Given the description of an element on the screen output the (x, y) to click on. 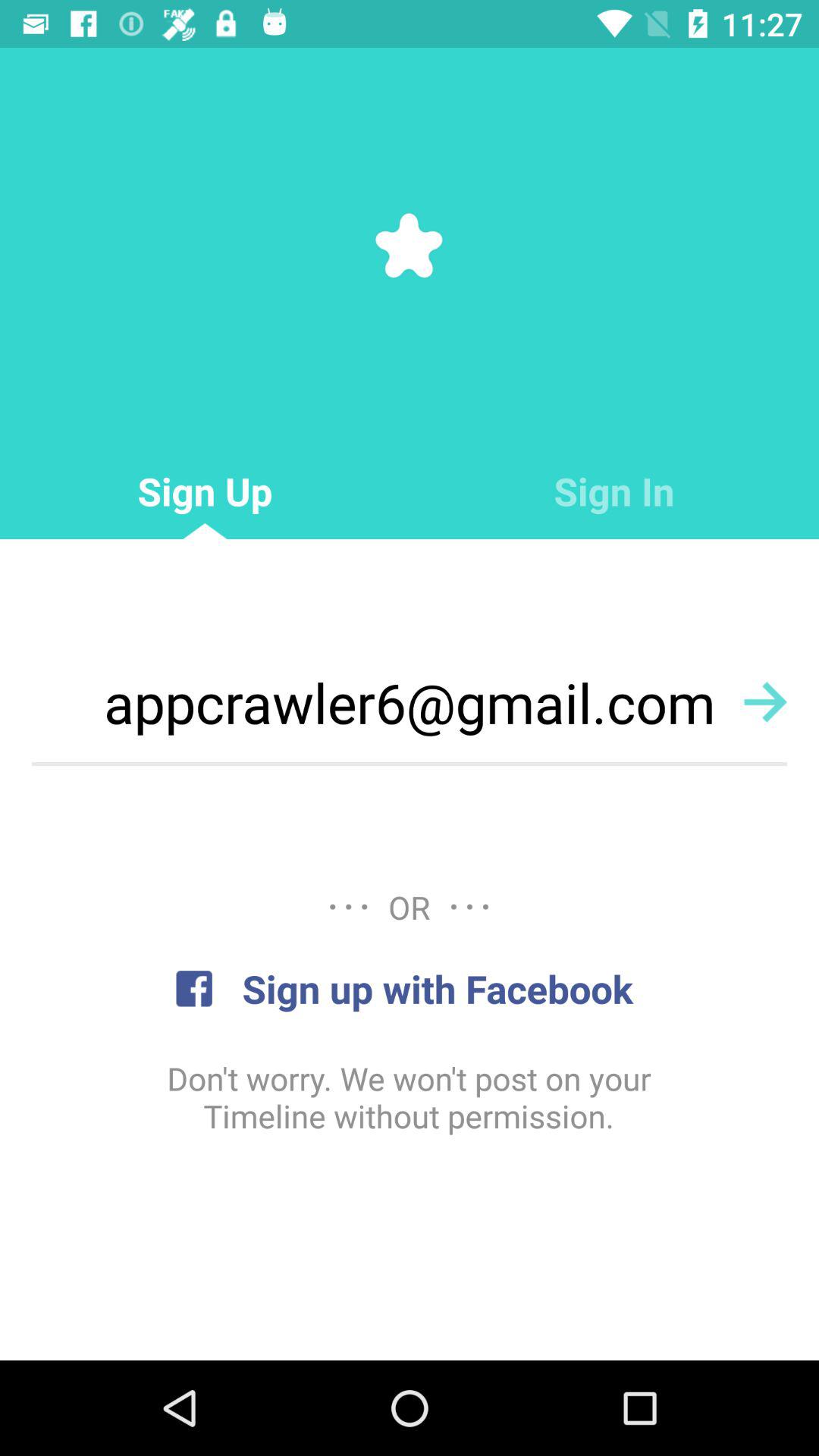
press item next to the sign up (614, 491)
